Given the description of an element on the screen output the (x, y) to click on. 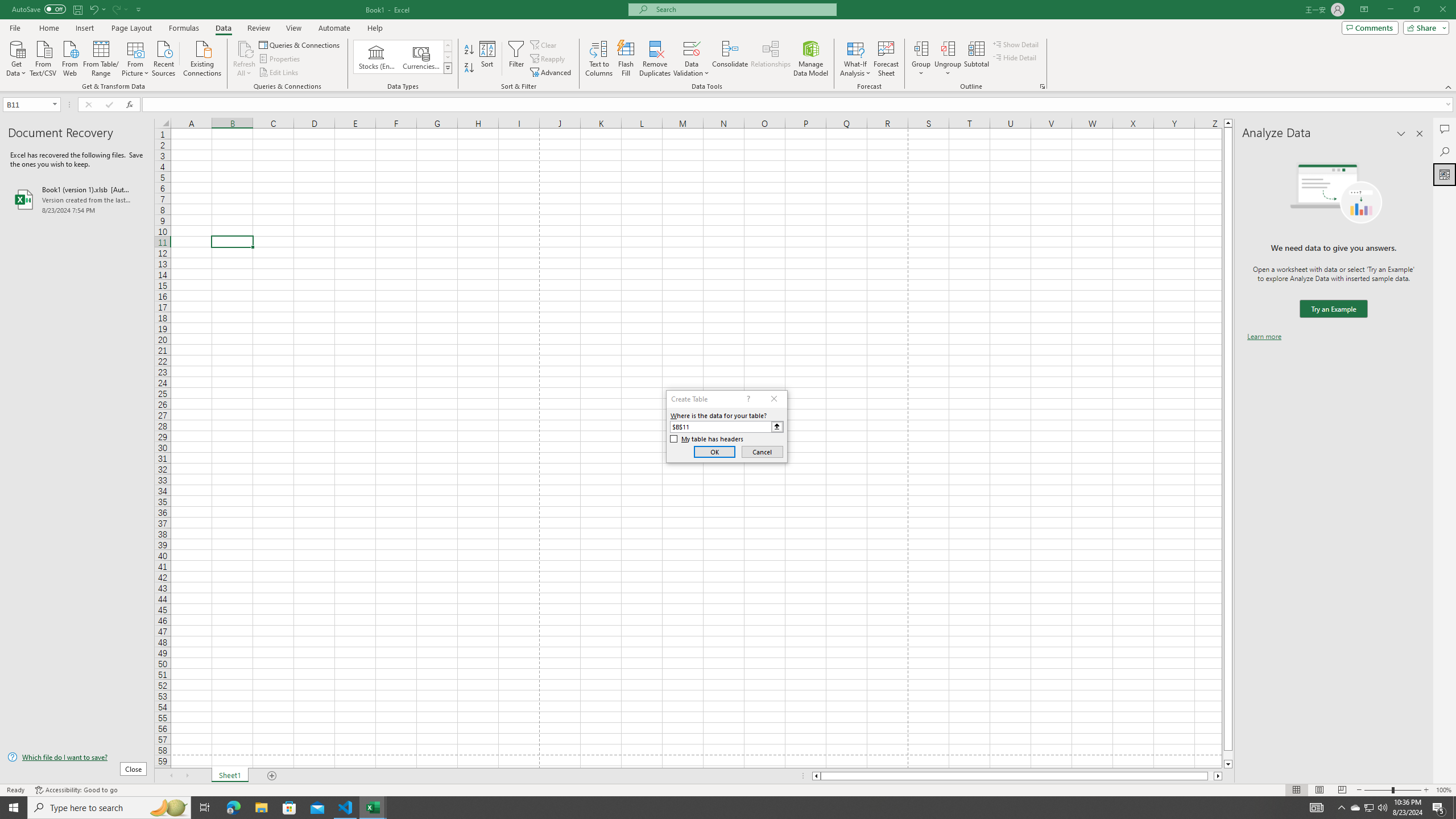
Row up (448, 45)
From Picture (135, 57)
